Given the description of an element on the screen output the (x, y) to click on. 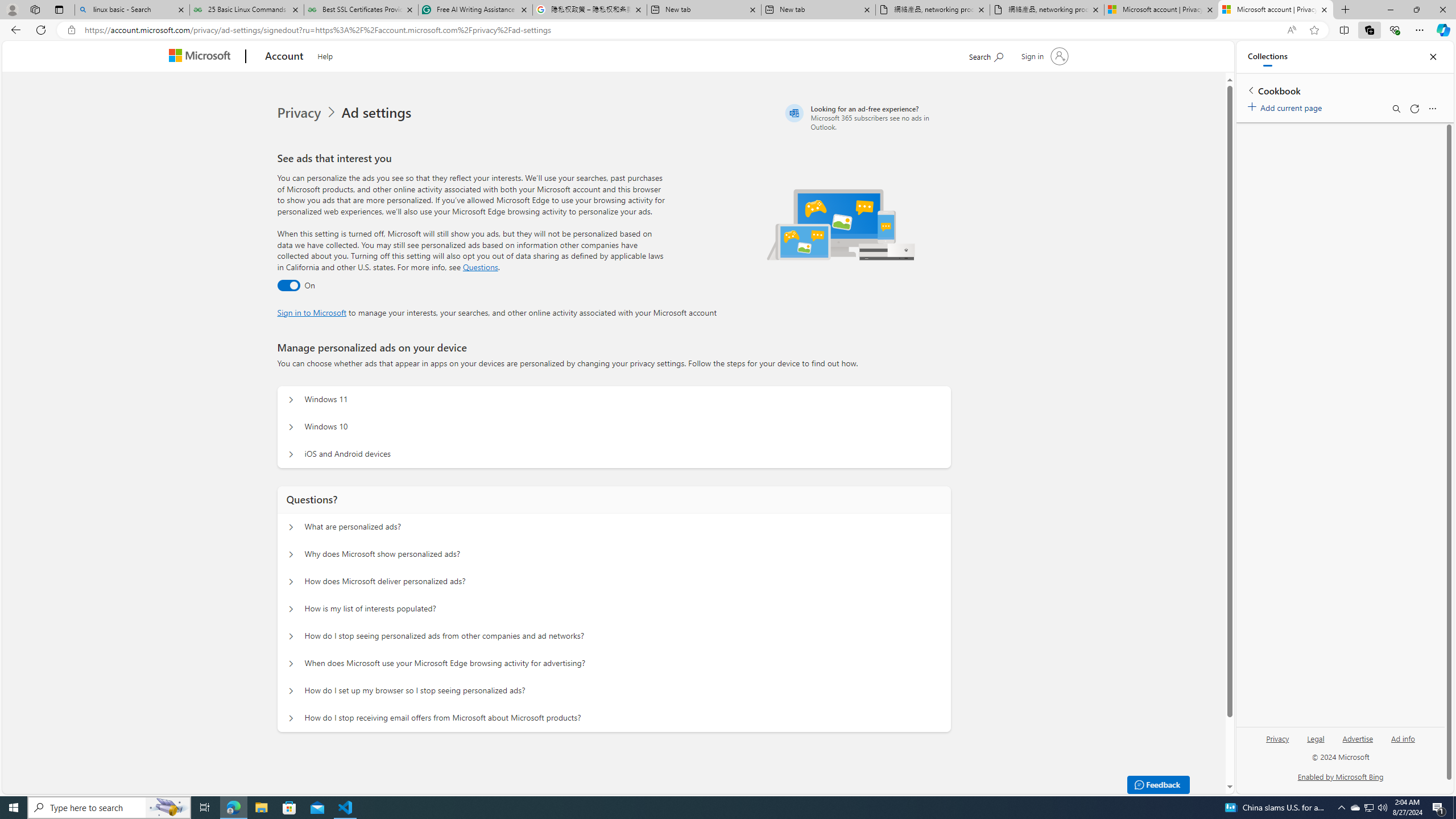
Privacy (1278, 738)
Free AI Writing Assistance for Students | Grammarly (475, 9)
Sign in to Microsoft (311, 311)
25 Basic Linux Commands For Beginners - GeeksforGeeks (246, 9)
Sign in to your account (1043, 55)
